Given the description of an element on the screen output the (x, y) to click on. 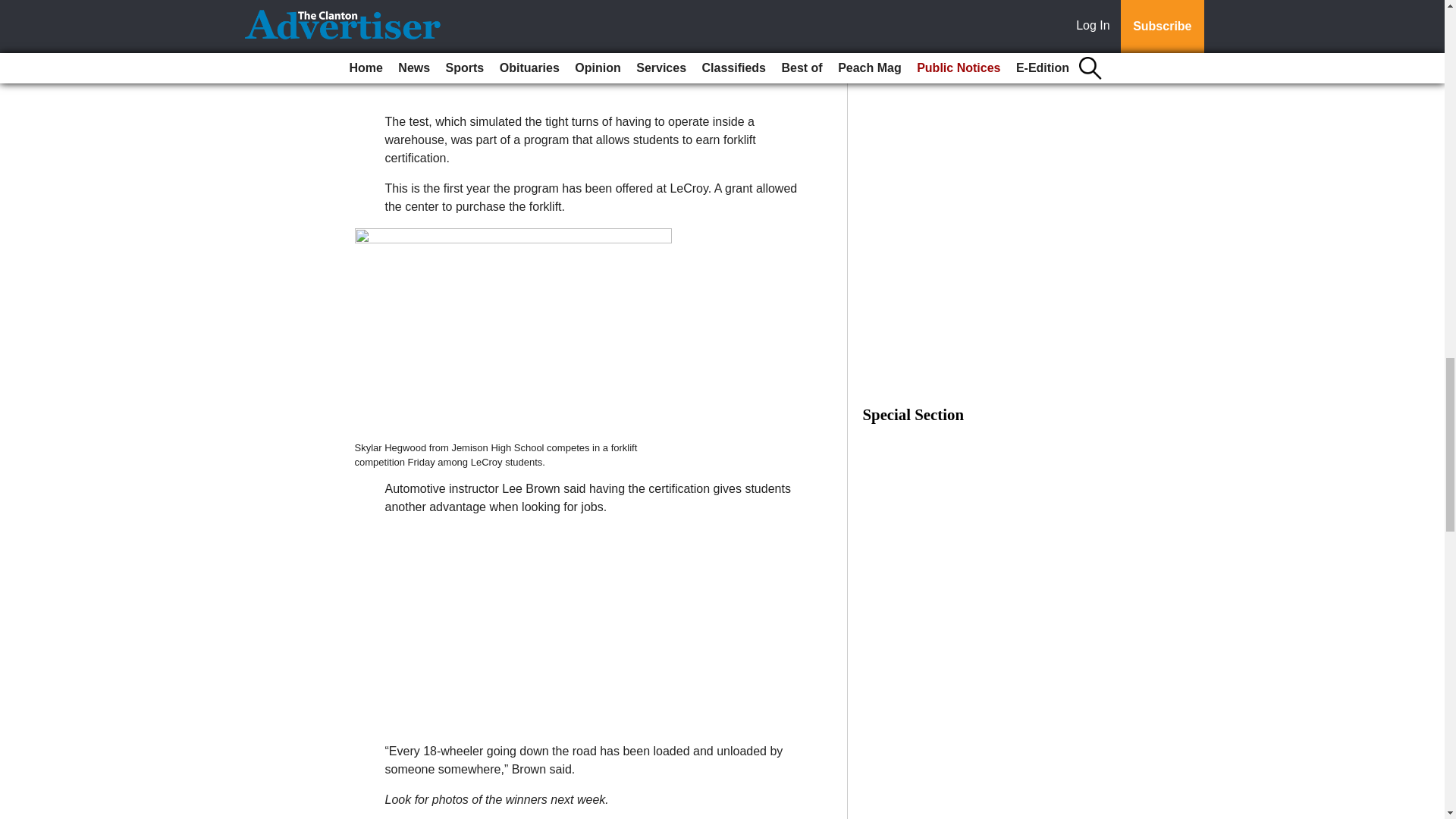
4-15 skylar-hegwood (513, 334)
